Given the description of an element on the screen output the (x, y) to click on. 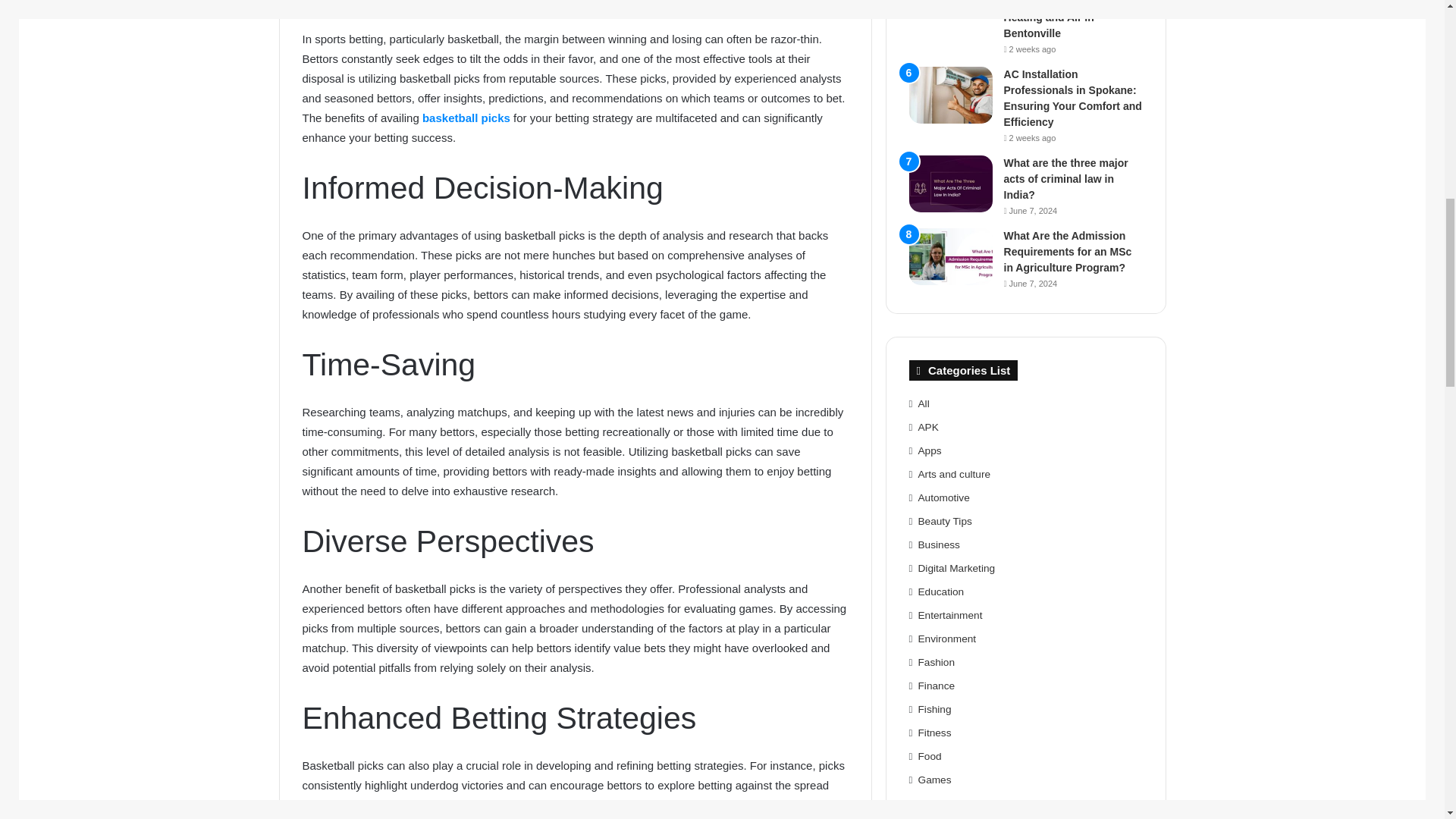
computer generated basketball picks (726, 804)
basketball picks (467, 117)
